Given the description of an element on the screen output the (x, y) to click on. 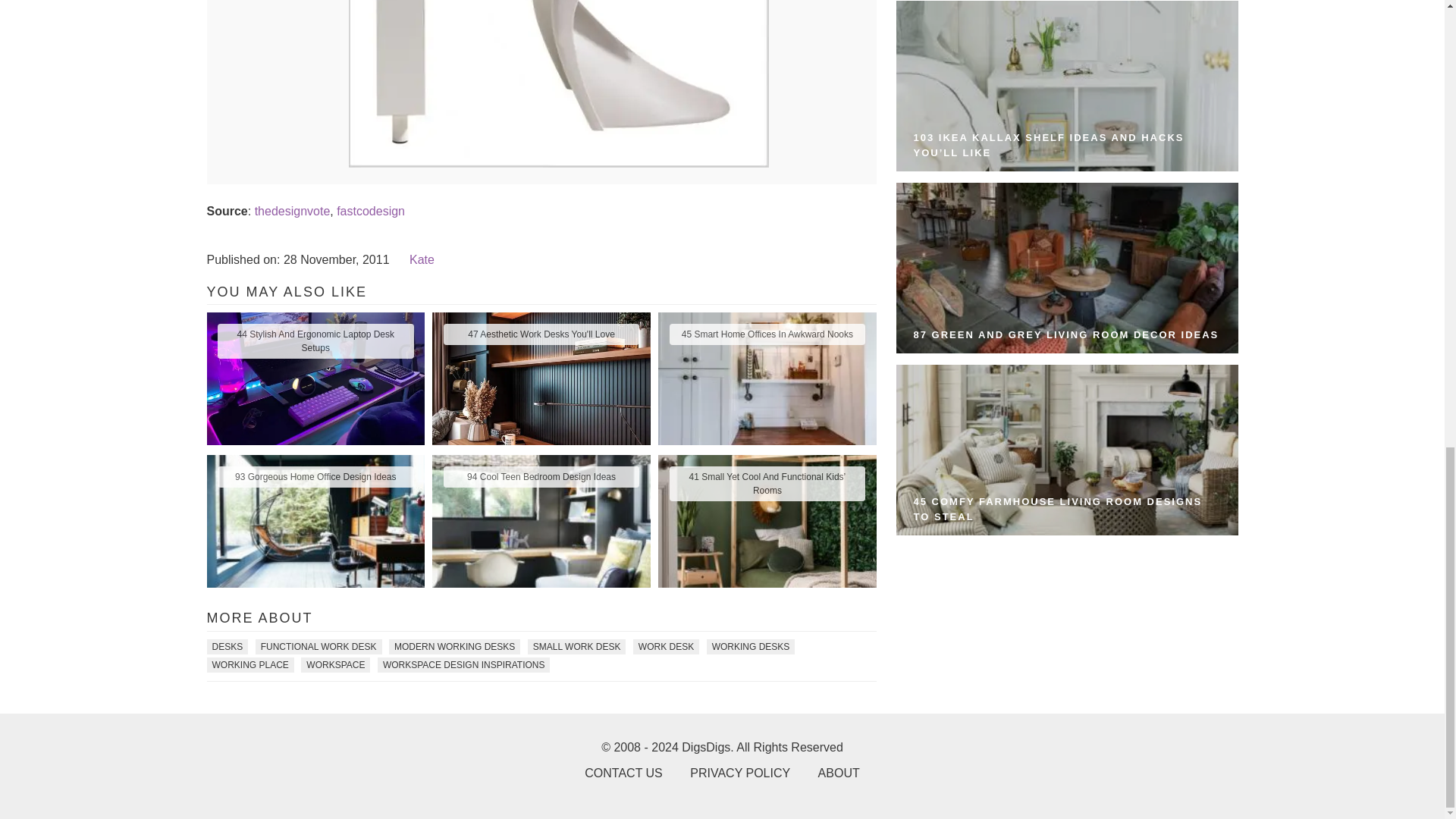
thedesignvote (292, 210)
Smallest But Comfortable Working Space (558, 83)
DESKS (226, 646)
FUNCTIONAL WORK DESK (318, 646)
Smallest But Comfortable Working Space (558, 163)
47 Aesthetic Work Desks You'll Love (542, 333)
MODERN WORKING DESKS (453, 646)
44 Stylish And Ergonomic Laptop Desk Setups (314, 340)
94 Cool Teen Bedroom Design Ideas (542, 476)
Kate (421, 259)
45 Smart Home Offices In Awkward Nooks (766, 333)
fastcodesign (370, 210)
93 Gorgeous Home Office Design Ideas (314, 476)
